Given the description of an element on the screen output the (x, y) to click on. 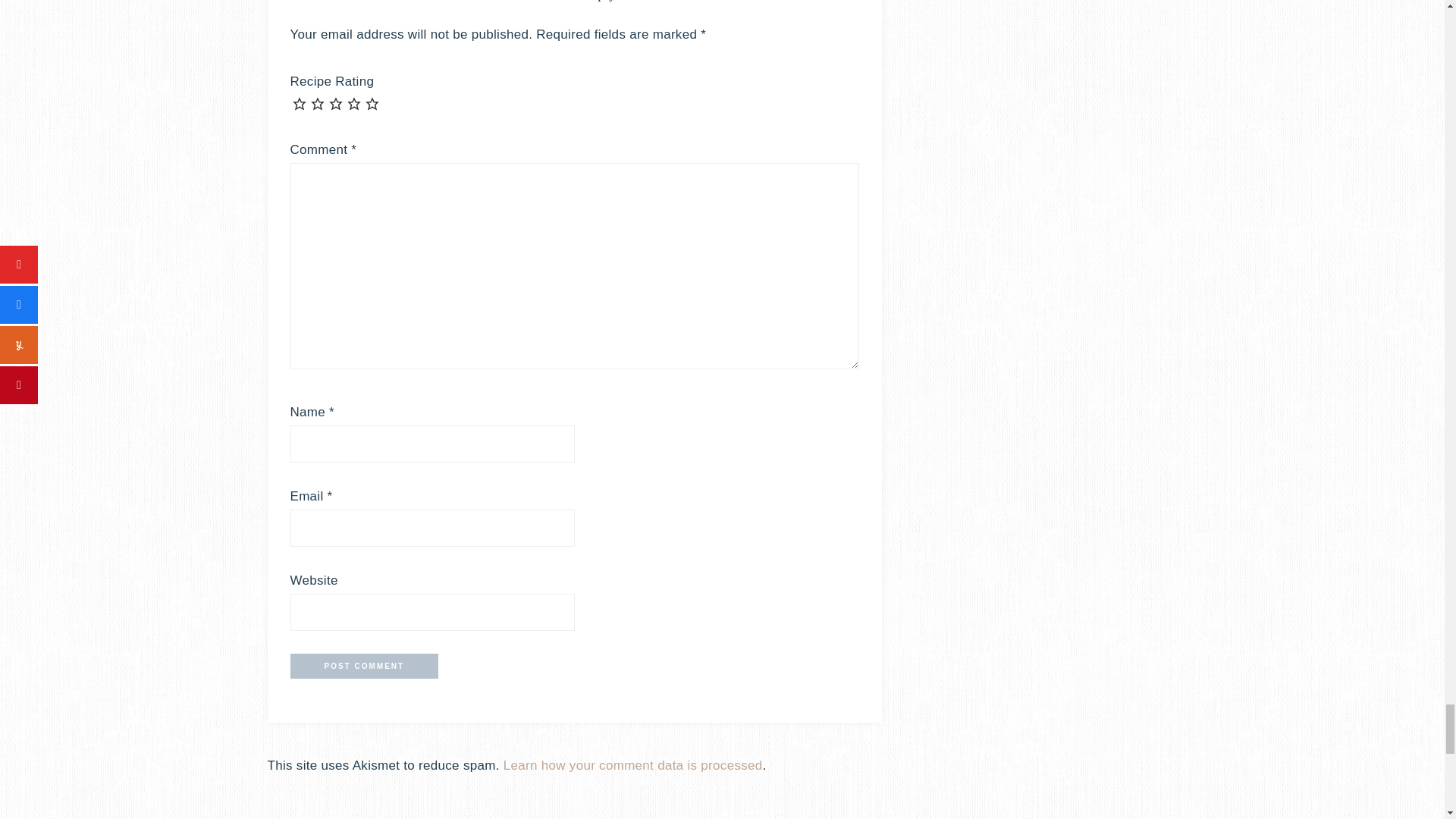
Post Comment (363, 665)
